Given the description of an element on the screen output the (x, y) to click on. 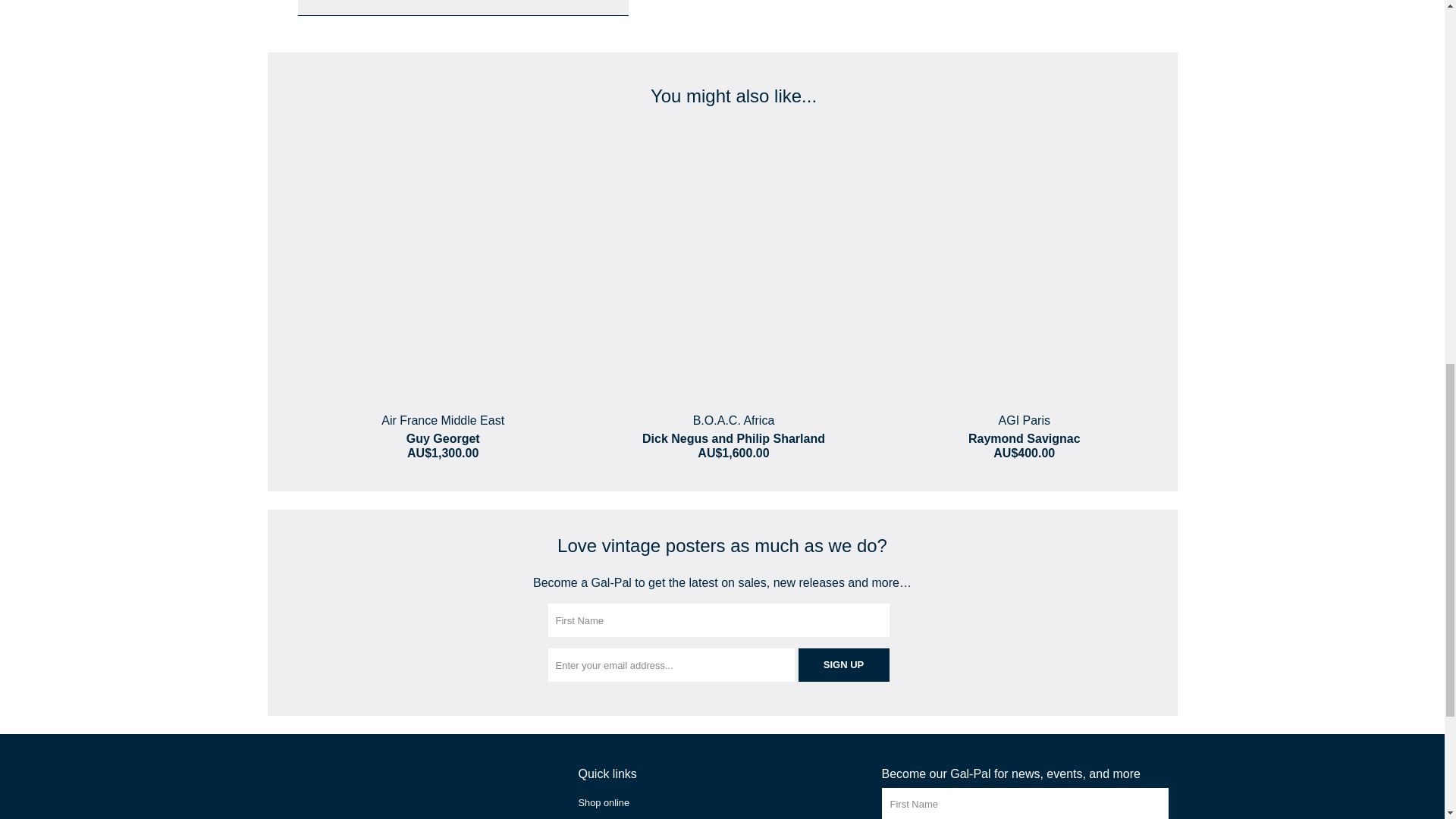
Sign Up (842, 664)
